Given the description of an element on the screen output the (x, y) to click on. 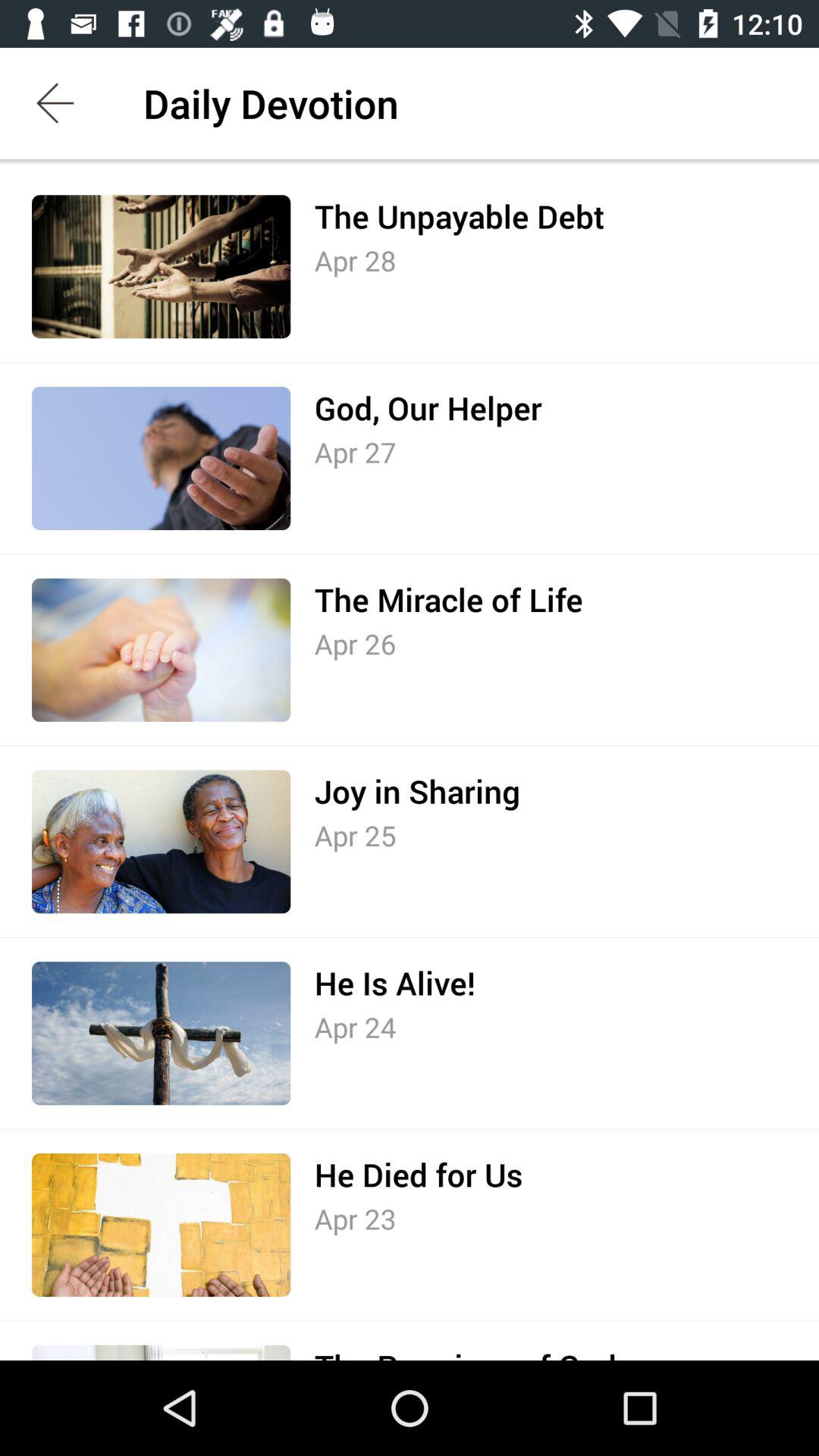
tap the icon below the joy in sharing (355, 835)
